Given the description of an element on the screen output the (x, y) to click on. 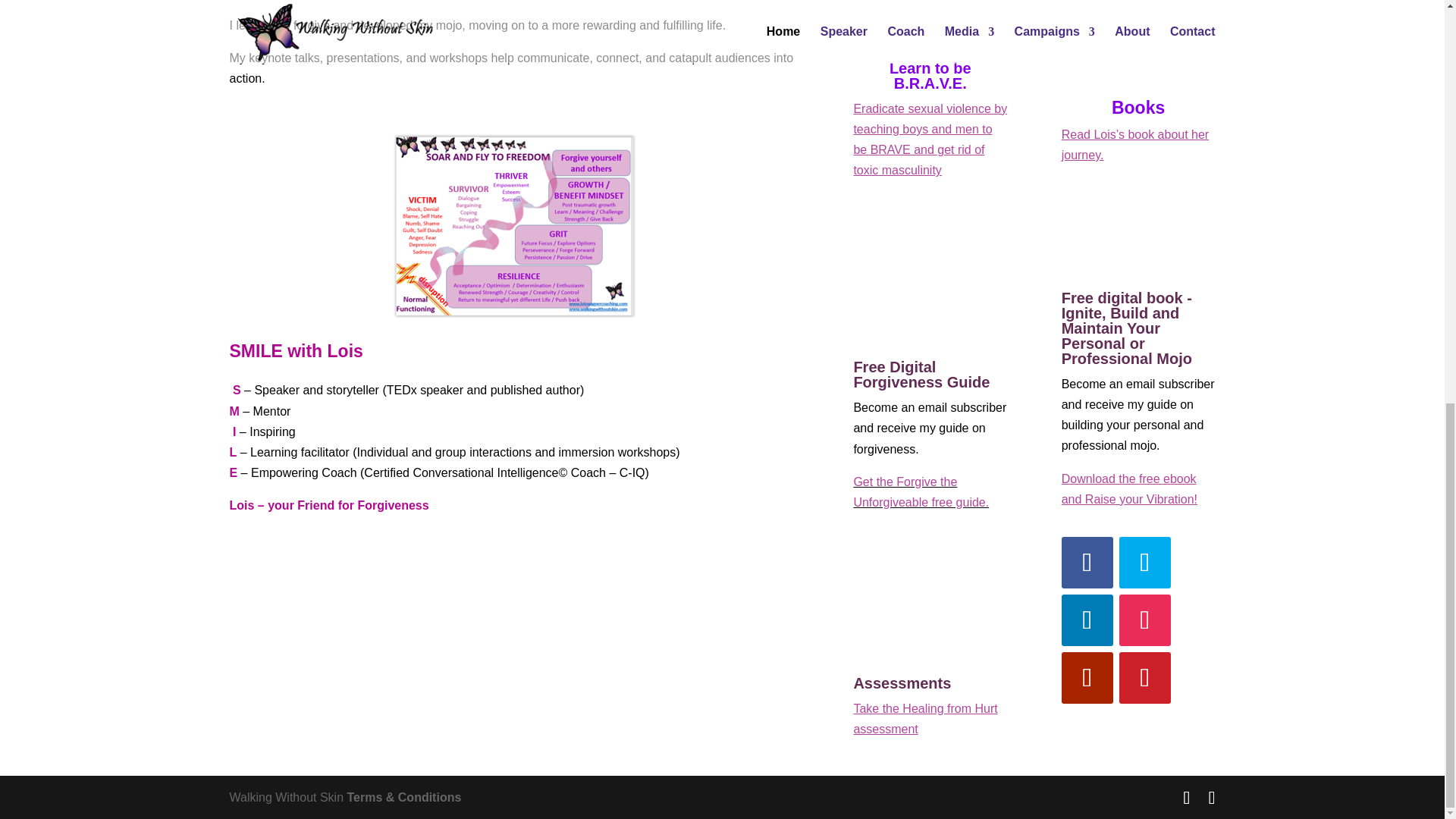
Learn to be B.R.A.V.E. (930, 75)
Assessments (901, 682)
Take the Healing from Hurt assessment (925, 718)
Free Digital Forgiveness Guide (921, 374)
Get the Forgive the Unforgiveable free guide. (920, 491)
Follow on LinkedIn (1087, 620)
Follow on Youtube (1087, 677)
Follow on Instagram (1144, 620)
Follow on Pinterest (1144, 677)
Follow on Facebook (1087, 562)
Follow on Twitter (1144, 562)
